Given the description of an element on the screen output the (x, y) to click on. 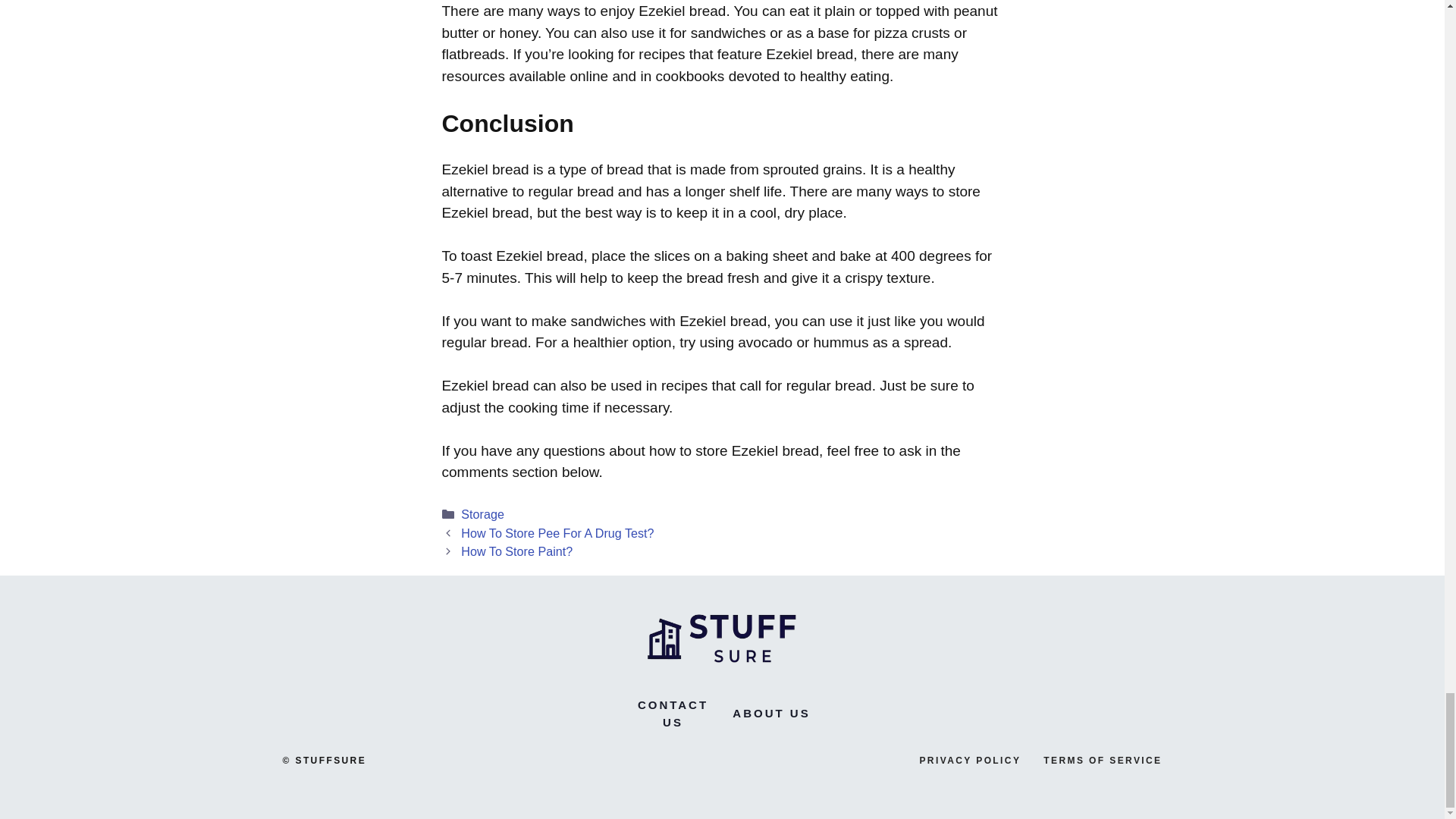
How To Store Paint? (516, 550)
PRIVACY POLICY (969, 760)
How To Store Pee For A Drug Test? (557, 532)
stuffsure-logo (721, 636)
CONTACT US (672, 713)
Storage (482, 513)
ABOUT US (770, 712)
